Given the description of an element on the screen output the (x, y) to click on. 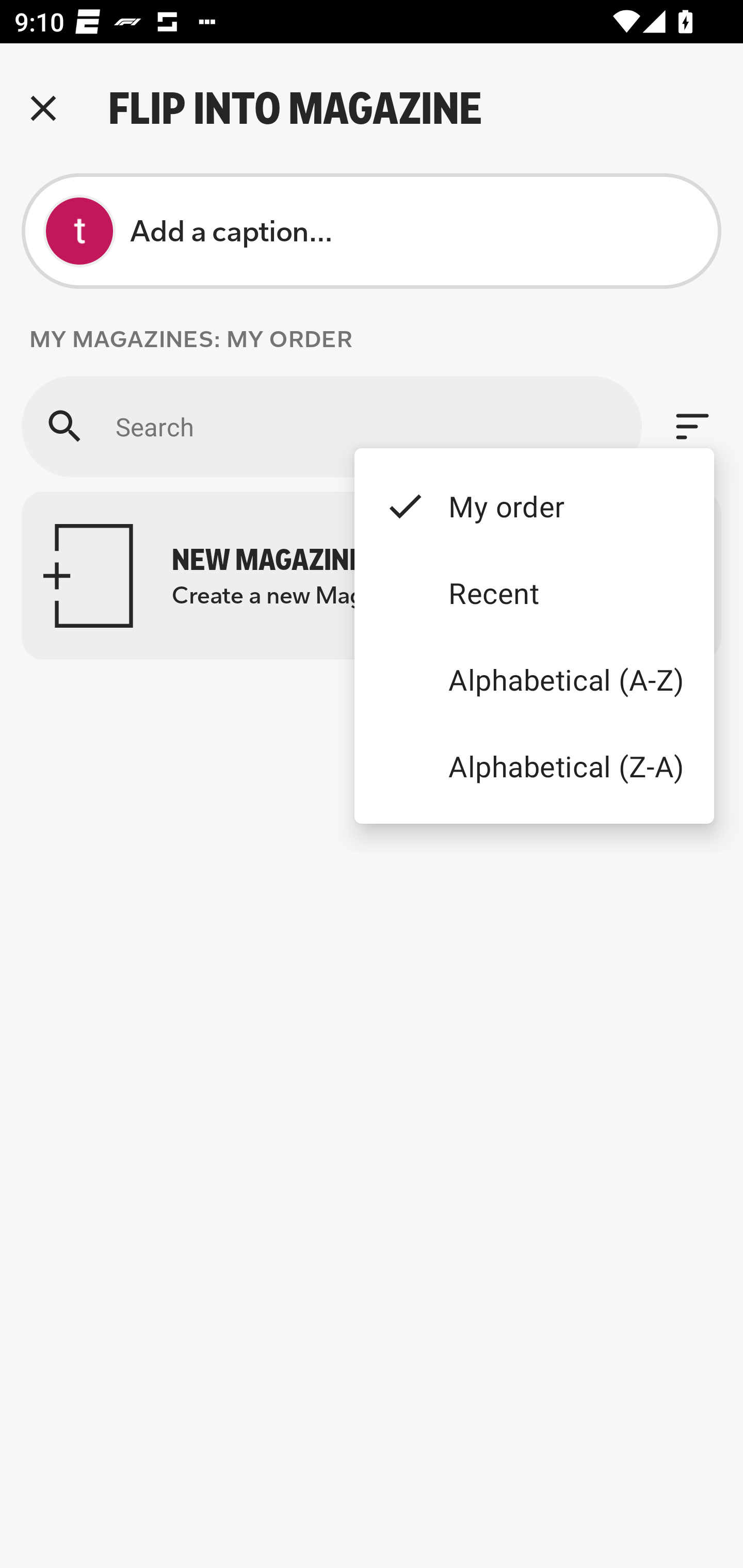
My order (534, 505)
Recent (534, 592)
Alphabetical (A-Z) (534, 679)
Alphabetical (Z-A) (534, 765)
